Given the description of an element on the screen output the (x, y) to click on. 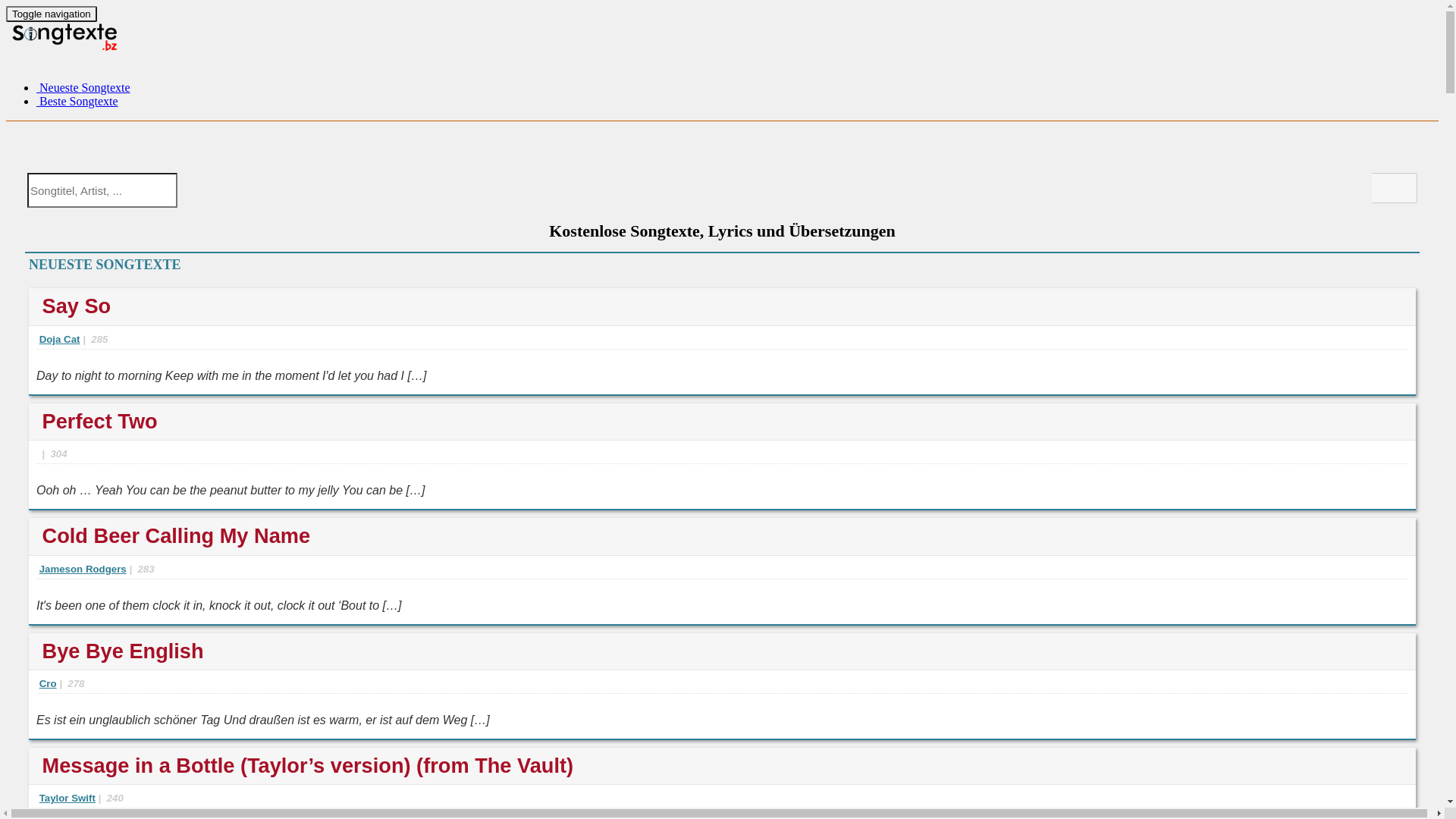
Say So Element type: text (76, 305)
Cold Beer Calling My Name Element type: text (176, 535)
Jameson Rodgers Element type: text (82, 570)
Bye Bye English Element type: text (122, 650)
Cro Element type: text (47, 685)
Toggle navigation Element type: text (51, 13)
 Neueste Songtexte Element type: text (83, 87)
Taylor Swift Element type: text (67, 799)
Doja Cat Element type: text (59, 340)
 Beste Songtexte Element type: text (77, 100)
Perfect Two Element type: text (99, 421)
